Given the description of an element on the screen output the (x, y) to click on. 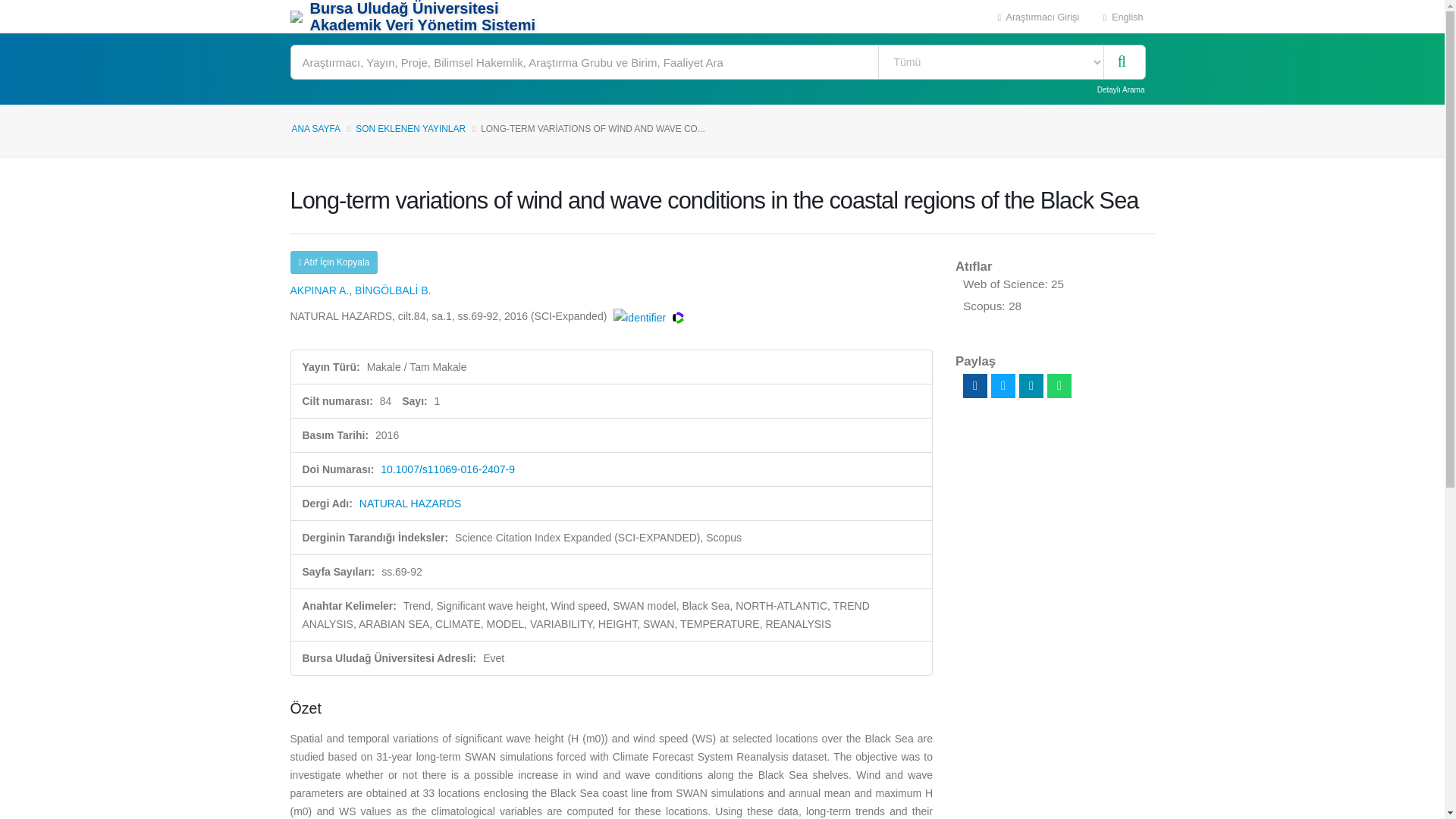
SON EKLENEN YAYINLAR (410, 128)
ANA SAYFA (315, 128)
English (1123, 17)
NATURAL HAZARDS (410, 503)
AKPINAR A. (319, 290)
